Given the description of an element on the screen output the (x, y) to click on. 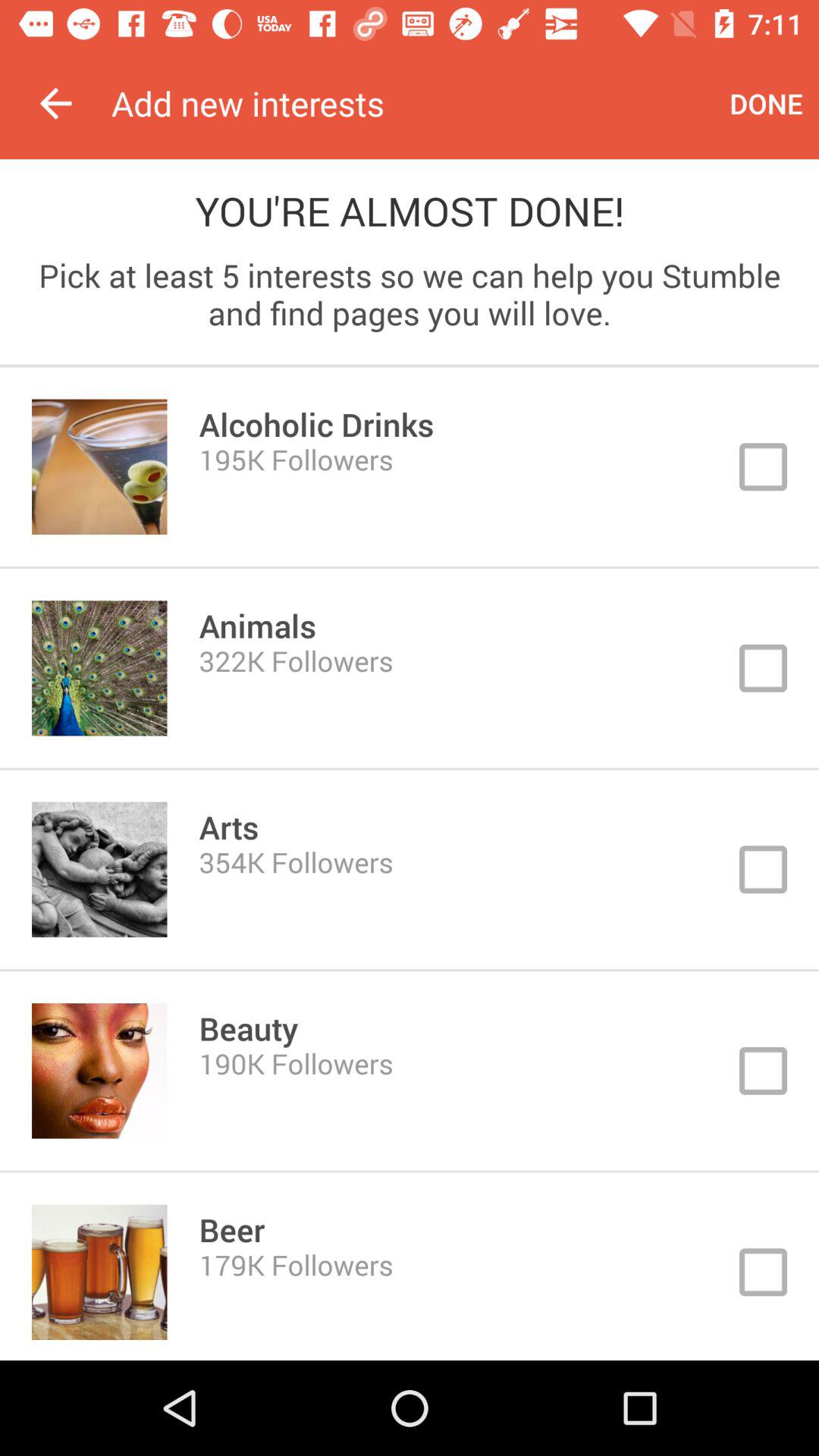
choose add new interests (412, 103)
